Given the description of an element on the screen output the (x, y) to click on. 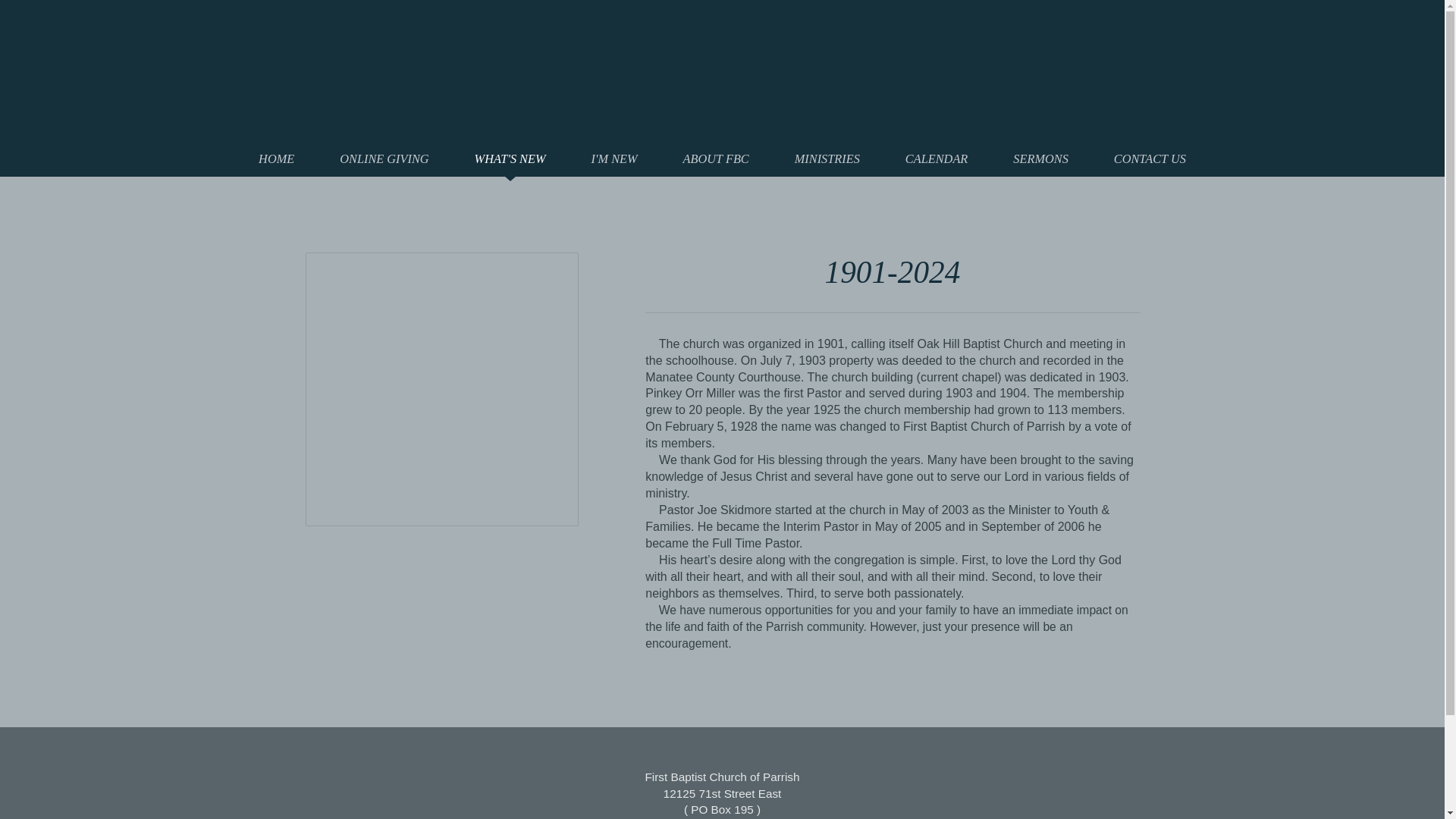
ONLINE GIVING (383, 158)
I'M NEW (614, 158)
ABOUT FBC (715, 158)
HOME (276, 158)
WHAT'S NEW (510, 158)
